Given the description of an element on the screen output the (x, y) to click on. 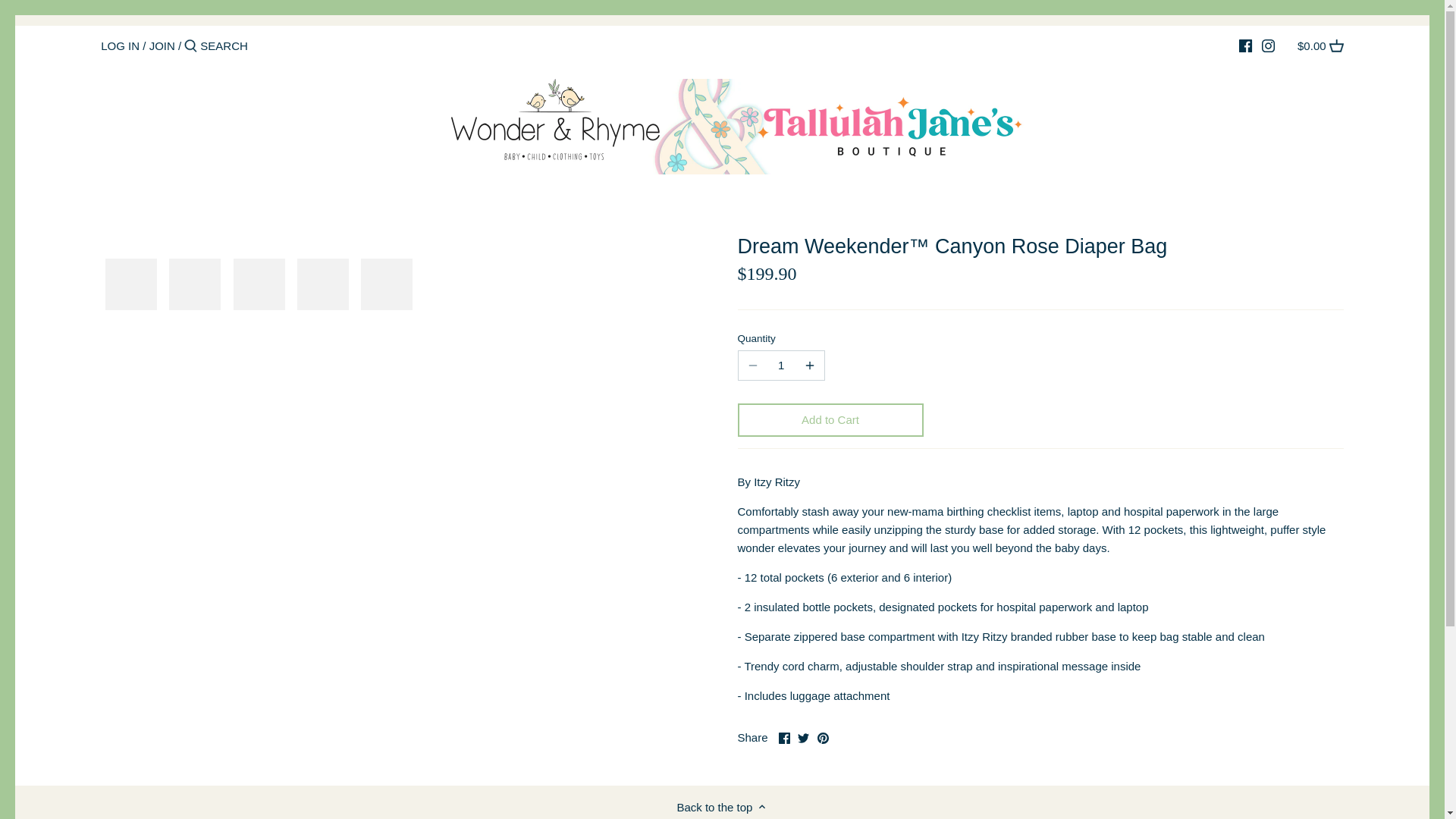
JOIN (161, 45)
FACEBOOK (1245, 45)
Facebook (784, 737)
Twitter (803, 737)
INSTAGRAM (1268, 45)
Back to the top (722, 806)
Add to Cart (829, 419)
LOG IN (119, 45)
1 (781, 365)
Pinterest (822, 737)
